Given the description of an element on the screen output the (x, y) to click on. 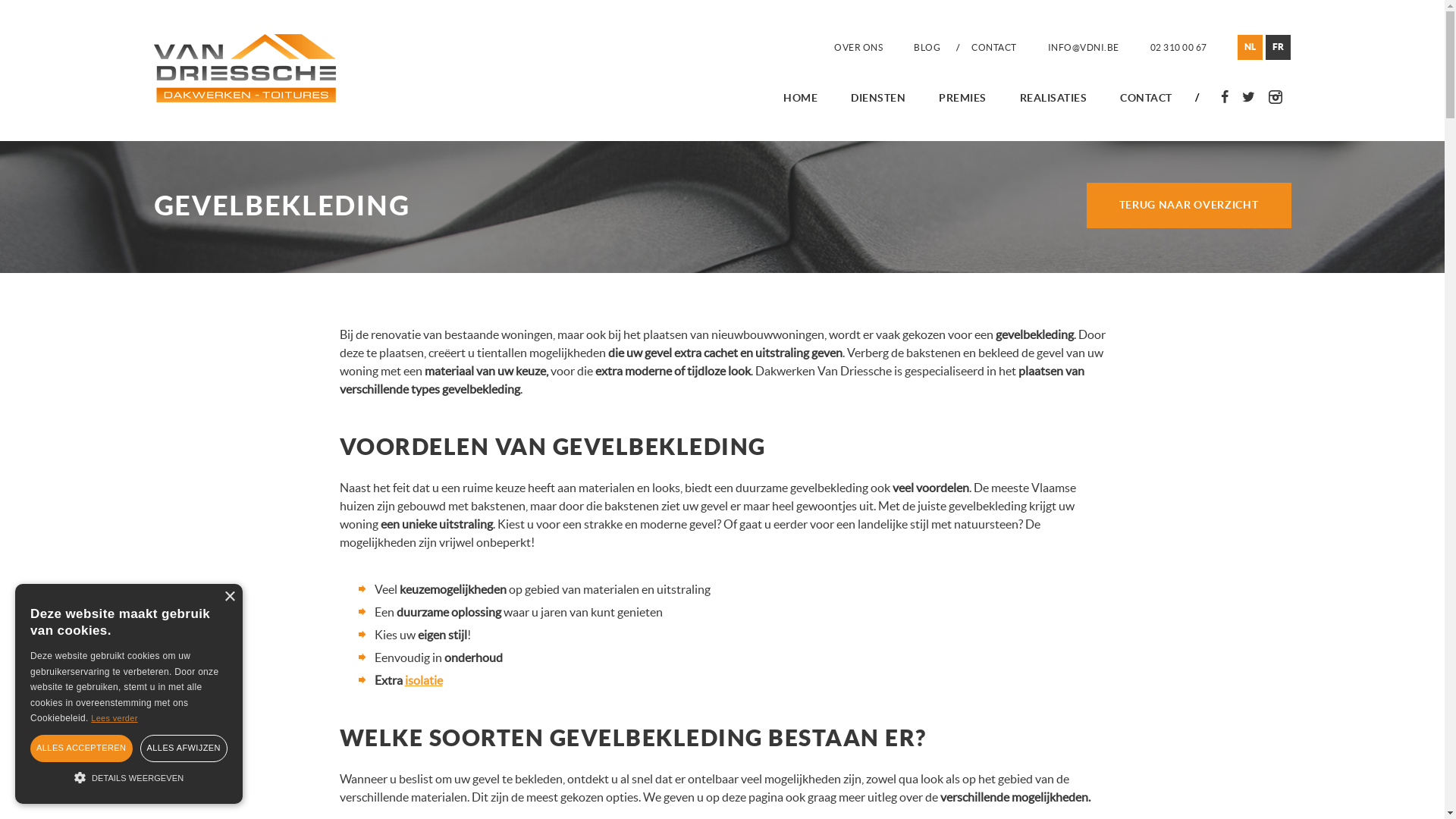
instagram Element type: text (1274, 96)
HOME Element type: text (800, 97)
DIENSTEN Element type: text (877, 97)
02 310 00 67 Element type: text (1177, 47)
CONTACT Element type: text (993, 47)
Lees verder Element type: text (114, 717)
isolatie Element type: text (423, 680)
Twitter Element type: text (1248, 96)
TERUG NAAR OVERZICHT Element type: text (1187, 205)
NL Element type: text (1249, 46)
REALISATIES Element type: text (1053, 97)
FR Element type: text (1276, 46)
CONTACT Element type: text (1146, 97)
Facebook Element type: text (1223, 96)
INFO@VDNI.BE Element type: text (1083, 47)
OVER ONS Element type: text (858, 47)
PREMIES Element type: text (962, 97)
BLOG Element type: text (926, 47)
